Given the description of an element on the screen output the (x, y) to click on. 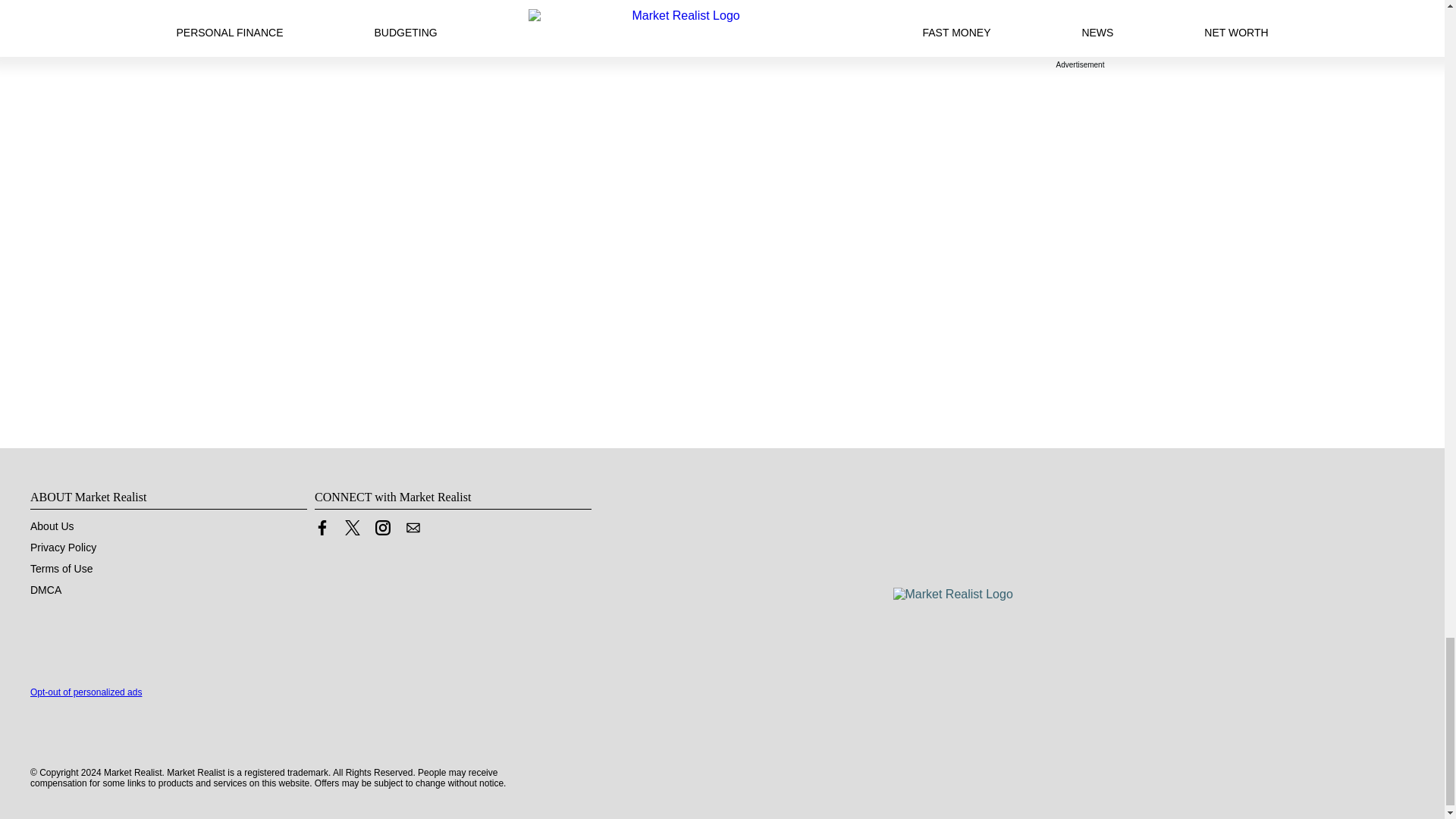
Privacy Policy (63, 547)
About Us (52, 526)
About Us (52, 526)
Link to X (352, 527)
Opt-out of personalized ads (85, 692)
Contact us by Email (413, 527)
Privacy Policy (63, 547)
Link to Instagram (382, 527)
DMCA (45, 589)
Link to Instagram (382, 531)
